Given the description of an element on the screen output the (x, y) to click on. 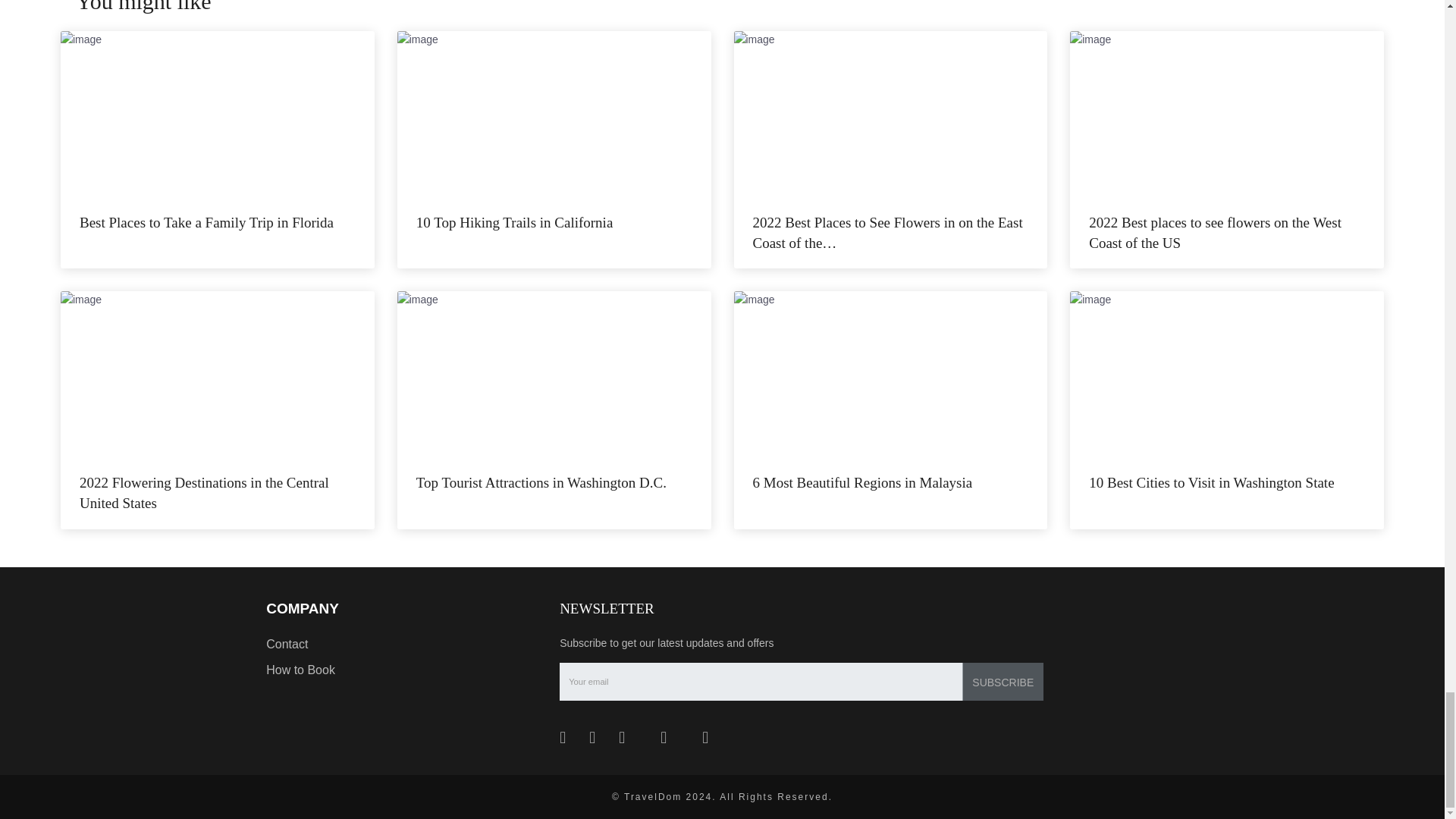
COMPANY (302, 609)
SUBSCRIBE (1002, 681)
How to Book (300, 669)
Contact (286, 644)
